Given the description of an element on the screen output the (x, y) to click on. 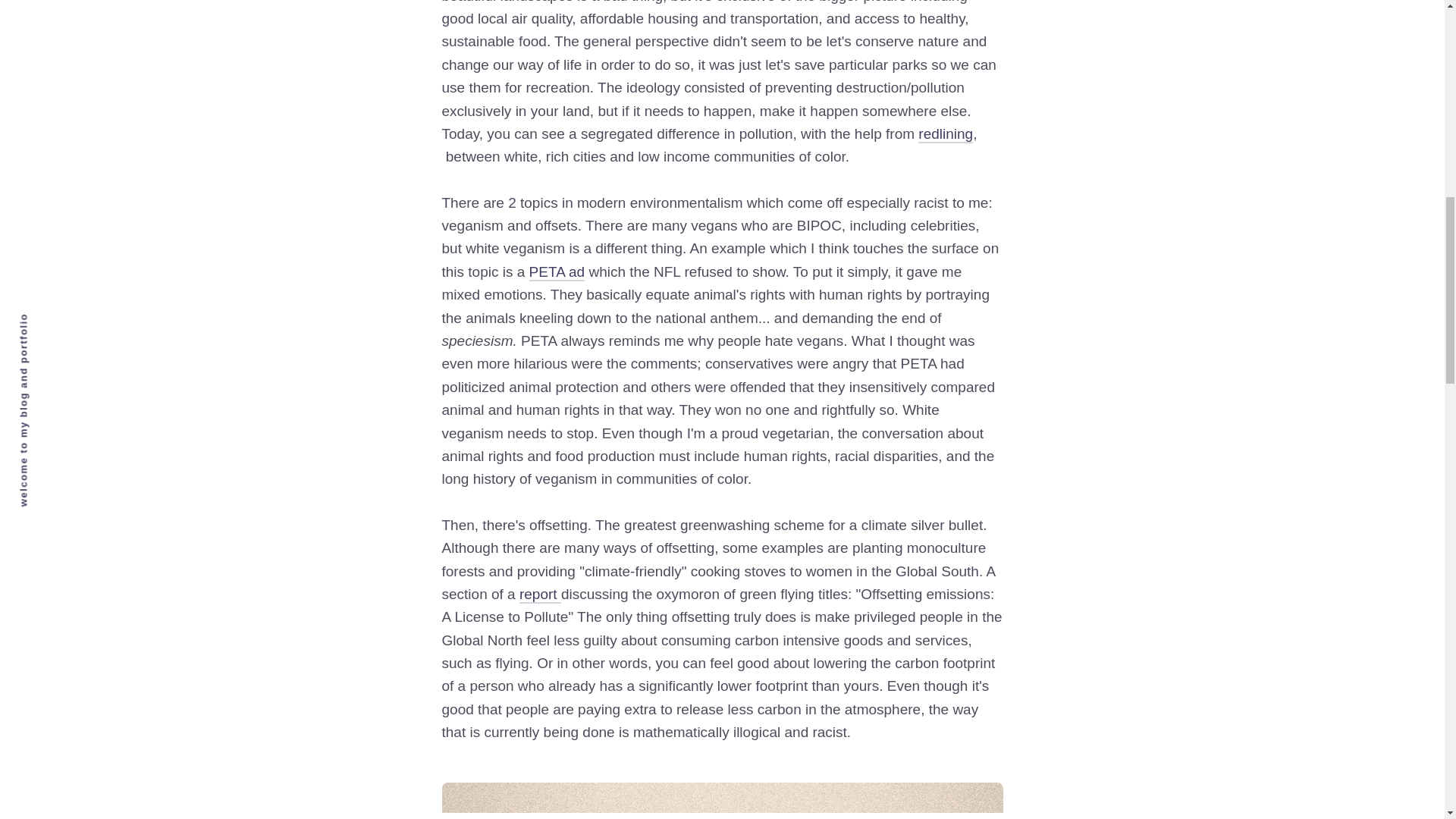
PETA ad (557, 272)
report (539, 594)
redlining (945, 134)
